Given the description of an element on the screen output the (x, y) to click on. 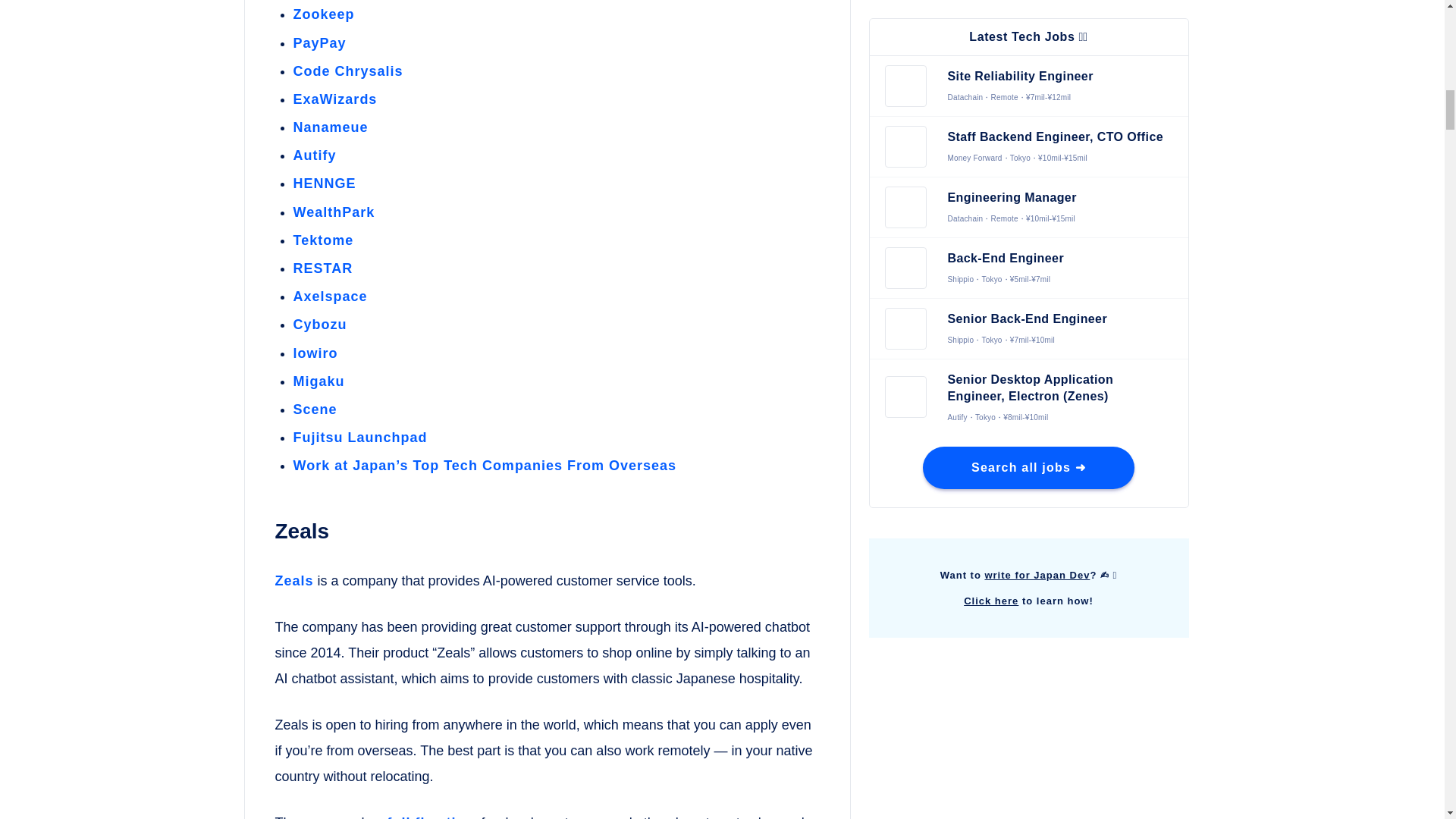
Autify (314, 155)
RESTAR (322, 268)
WealthPark (333, 212)
Zookeep (322, 14)
Code Chrysalis (347, 70)
Nanameue (330, 127)
Tektome (322, 240)
ExaWizards (334, 99)
HENNGE (323, 183)
PayPay (319, 42)
